Given the description of an element on the screen output the (x, y) to click on. 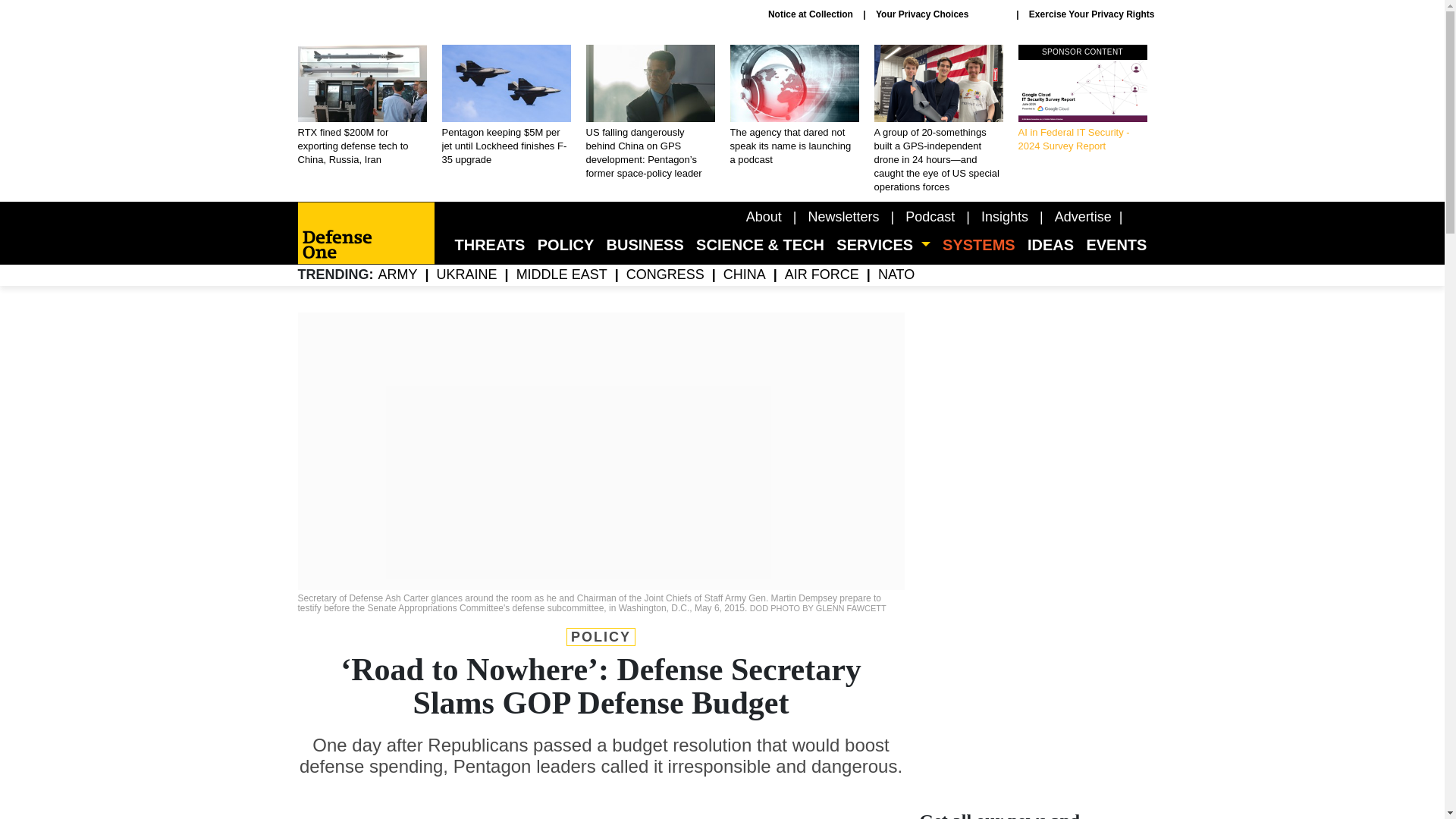
Newsletters (843, 216)
Your Privacy Choices (941, 14)
Advertise (1083, 216)
Exercise Your Privacy Rights (1091, 14)
Notice at Collection (810, 14)
Podcast (930, 216)
Insights (1004, 216)
About (763, 216)
